Given the description of an element on the screen output the (x, y) to click on. 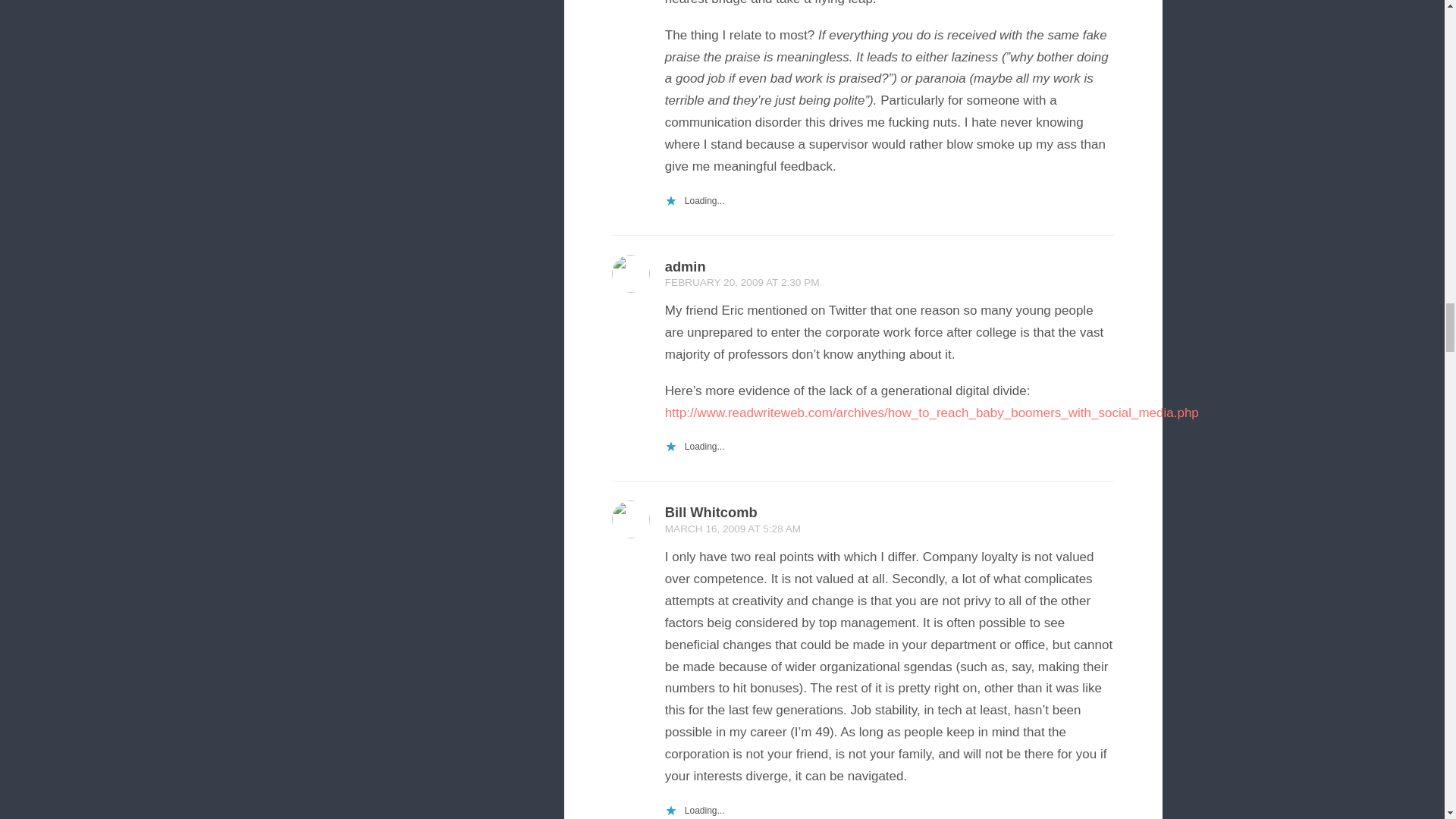
FEBRUARY 20, 2009 AT 2:30 PM (742, 282)
MARCH 16, 2009 AT 5:28 AM (732, 528)
